Given the description of an element on the screen output the (x, y) to click on. 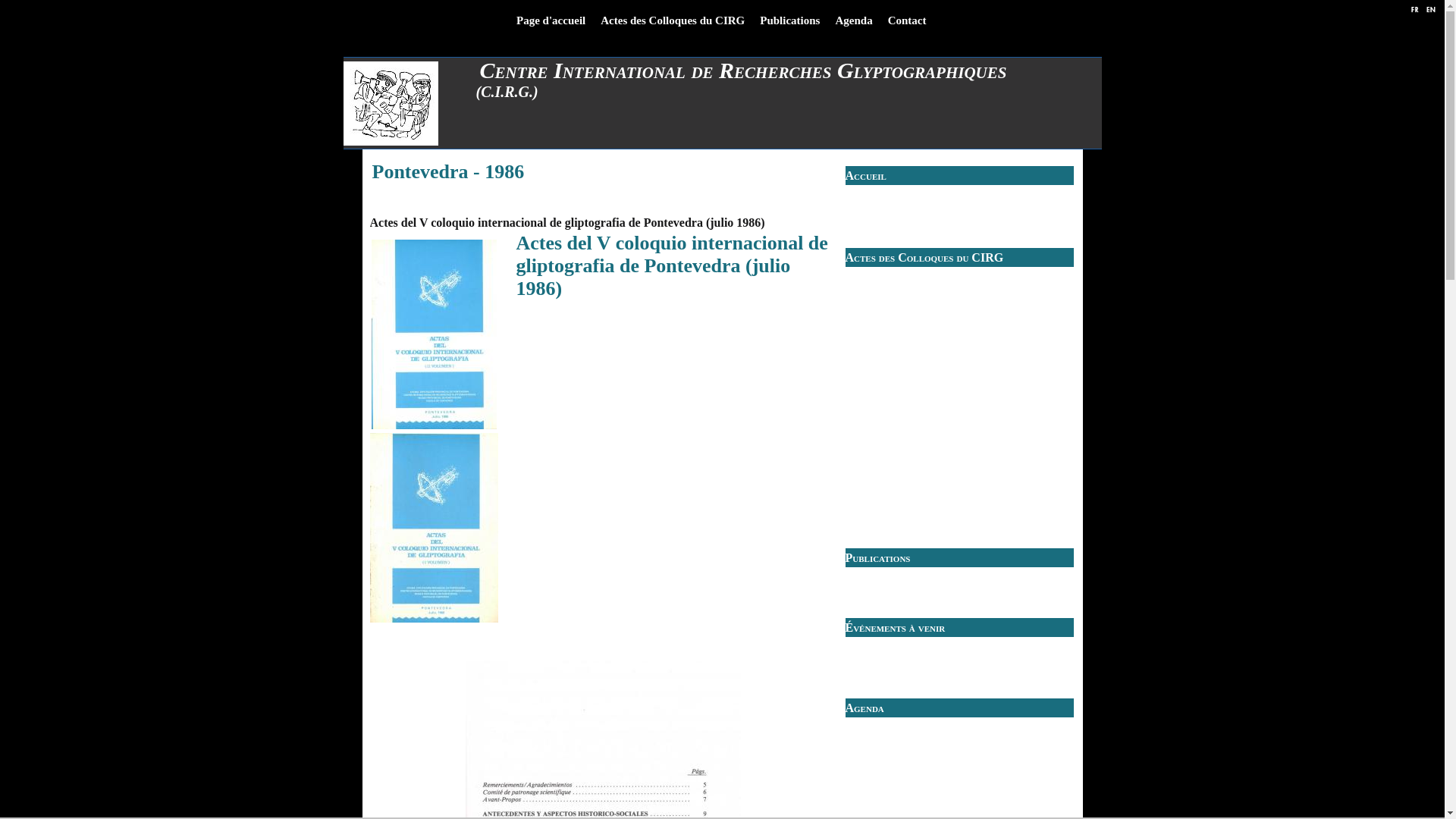
Cambrai - 1984 Element type: text (890, 308)
Publications Element type: text (877, 557)
Amay - 2018 Element type: text (885, 514)
Colloques Element type: text (879, 722)
Mont-Sainte-Odile - 1996 Element type: text (910, 381)
Autres publications Element type: text (897, 584)
Cracovie - 2010 Element type: text (891, 466)
Contact Element type: text (907, 20)
Valence 2012 Element type: text (886, 478)
Palma de Majorque - 1998 Element type: text (912, 393)
Actes des Colloques du CIRG Element type: text (923, 257)
Cordoue - 2006 Element type: text (890, 442)
Joyeuse - 2016 Element type: text (889, 502)
Page d'accueil Element type: text (550, 20)
Actes Colloque Pontevedra - Vol I Element type: hover (434, 527)
Rochefort-sur-Mer - 1990 Element type: text (910, 345)
Colmar - 2014 Element type: text (888, 490)
Accueil Element type: text (864, 175)
Publications Element type: text (789, 20)
Publications Element type: text (883, 572)
Mons - 1979 Element type: text (884, 272)
Chambord - 2004 Element type: text (894, 430)
Agenda Element type: text (853, 20)
Actes des Colloques du CIRG Element type: text (919, 190)
Saragosse - 1982 Element type: text (893, 296)
Belley - 1994 Element type: text (886, 369)
Actes des Colloques du CIRG Element type: text (672, 20)
Actes Colloque Pontevedra - Volume II Element type: hover (434, 334)
Saint-Christophe-en-Brionnais Element type: text (920, 405)
Hoepertingen Euregio - 1992 Element type: text (917, 357)
Centre International de Recherches Glyptographiques Element type: text (787, 70)
Pontevedra - 1986 Element type: text (895, 320)
Agenda Element type: text (863, 707)
Venise - 2003 Element type: text (886, 417)
Publications Element type: text (883, 202)
